Given the description of an element on the screen output the (x, y) to click on. 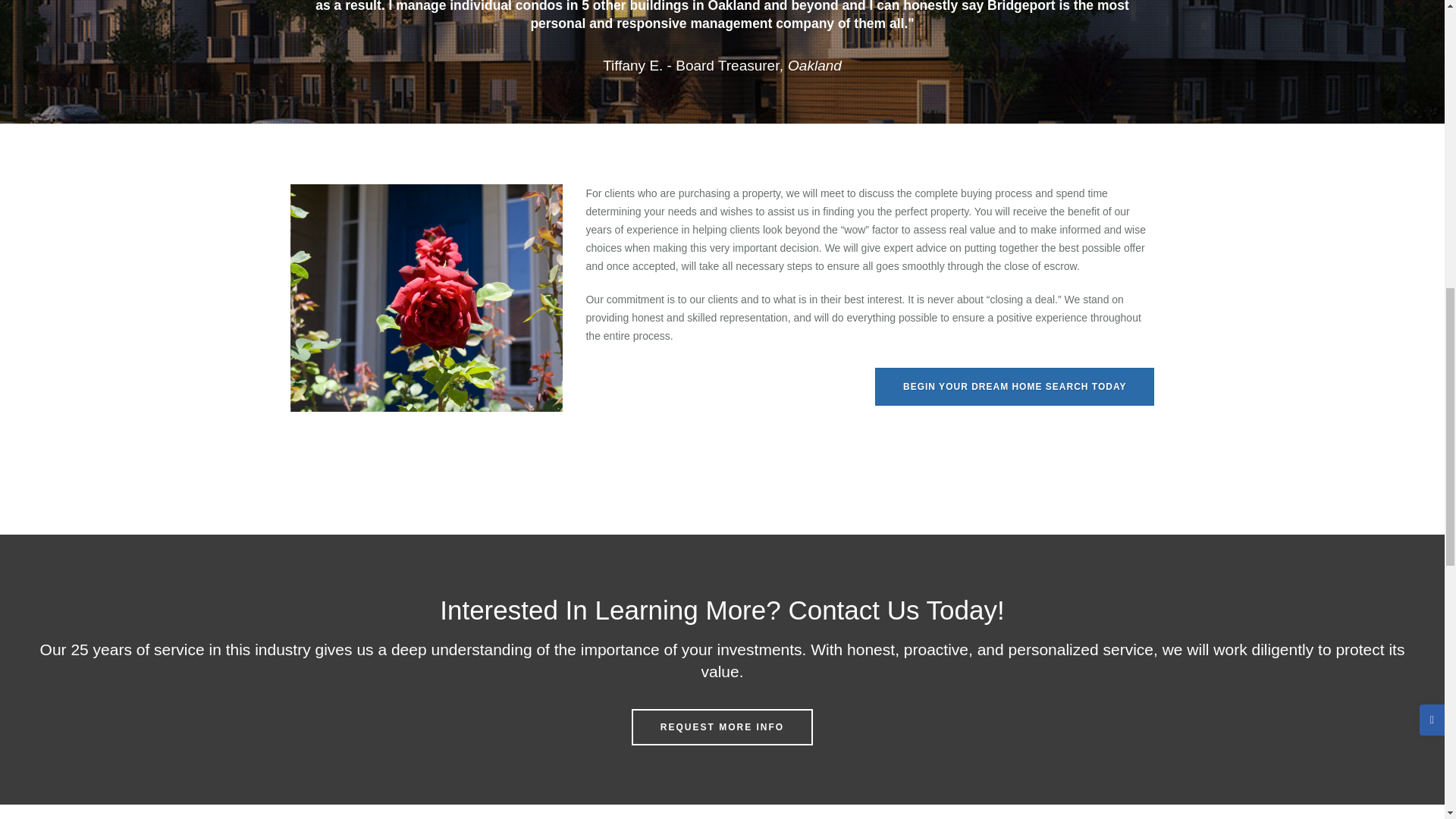
REQUEST MORE INFO (721, 726)
BEGIN YOUR DREAM HOME SEARCH TODAY (1014, 386)
REQUEST MORE INFO (721, 727)
